Given the description of an element on the screen output the (x, y) to click on. 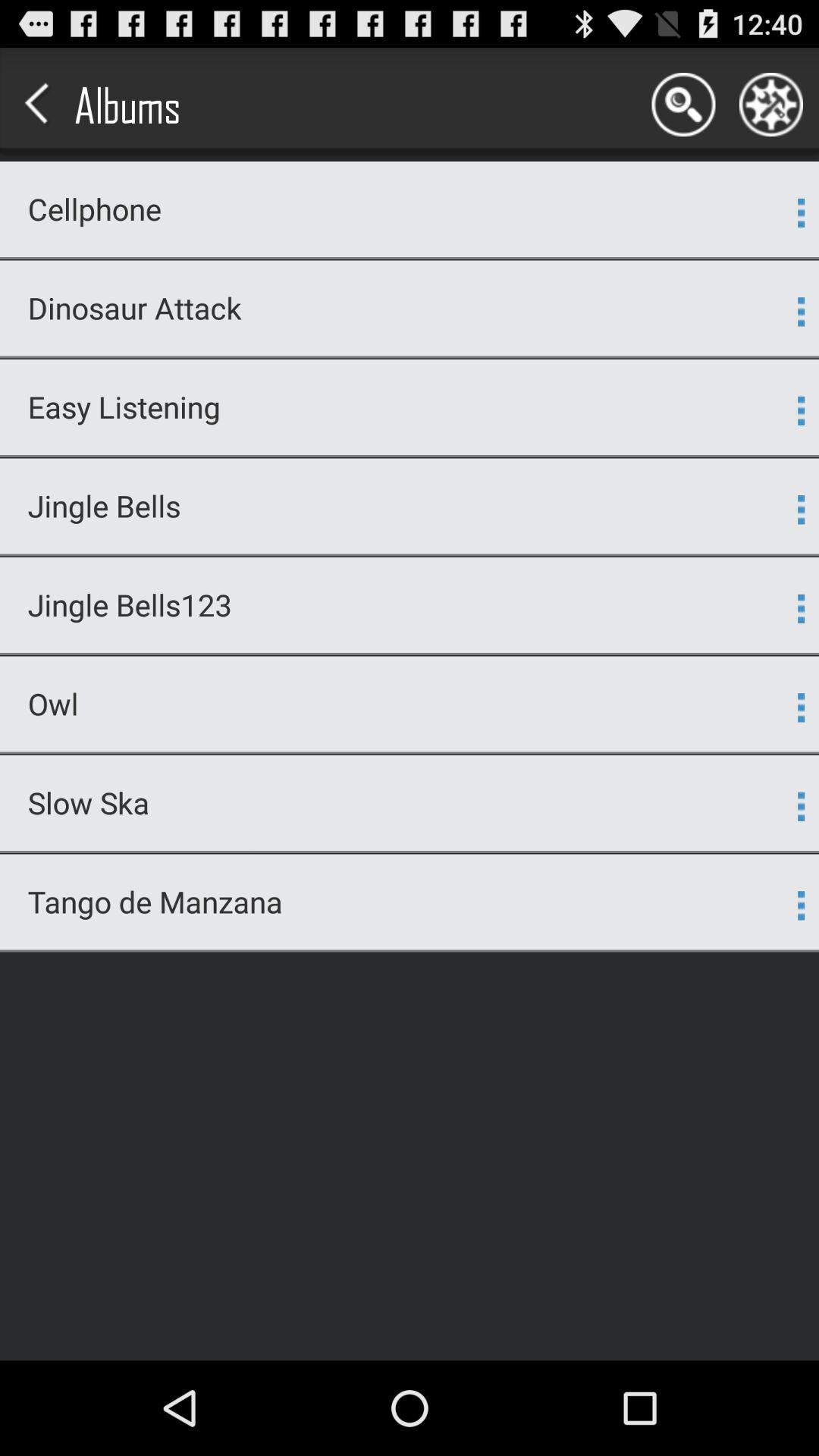
turn off app next to the cellphone icon (800, 212)
